Given the description of an element on the screen output the (x, y) to click on. 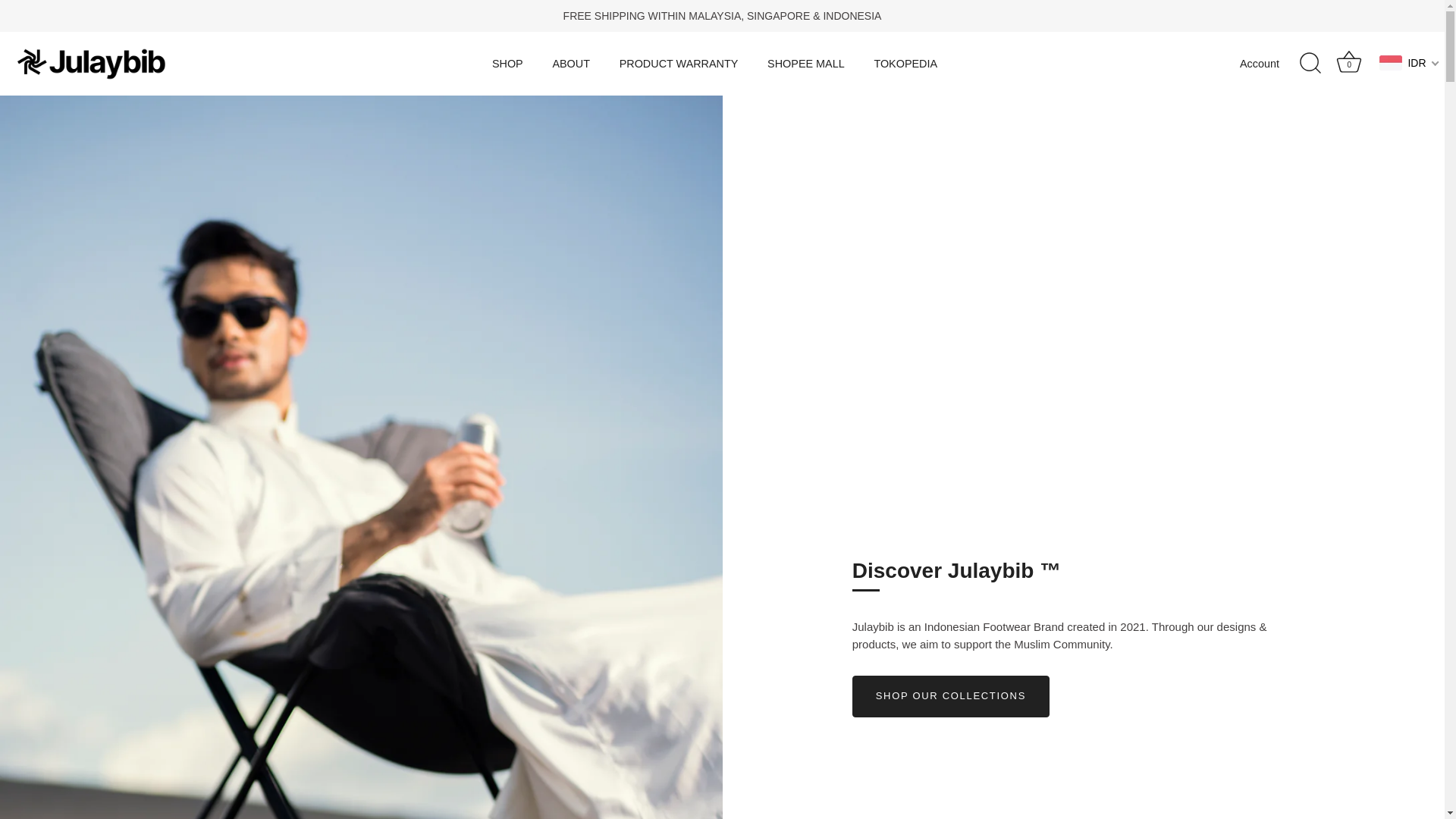
SHOP OUR COLLECTIONS (950, 695)
ABOUT (570, 63)
SHOP (1348, 63)
SHOPEE MALL (507, 63)
TOKOPEDIA (805, 63)
Account (905, 63)
PRODUCT WARRANTY (1273, 63)
Basket (678, 63)
